Given the description of an element on the screen output the (x, y) to click on. 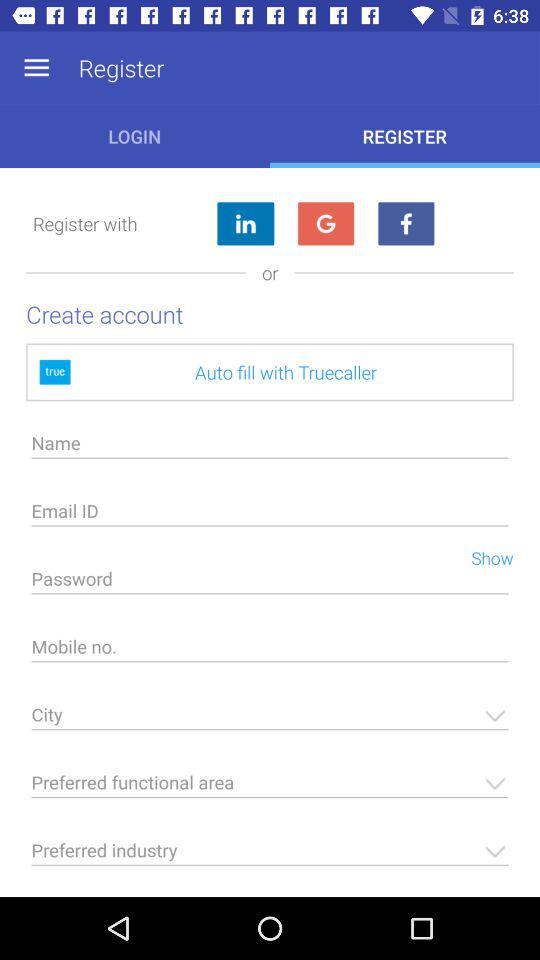
enter your city (269, 720)
